Given the description of an element on the screen output the (x, y) to click on. 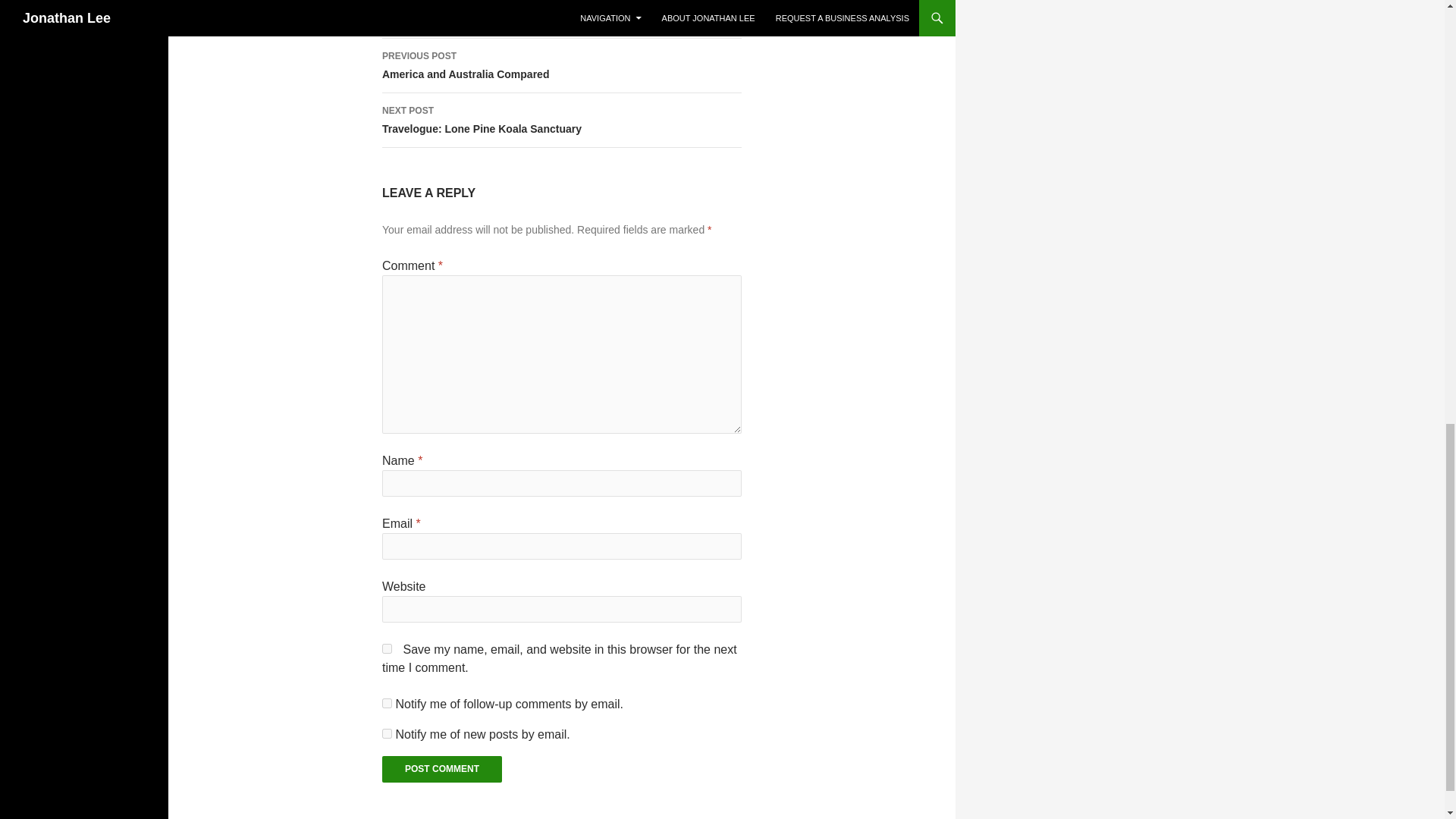
Post Comment (441, 768)
subscribe (561, 65)
yes (386, 703)
subscribe (386, 648)
Post Comment (386, 733)
